Given the description of an element on the screen output the (x, y) to click on. 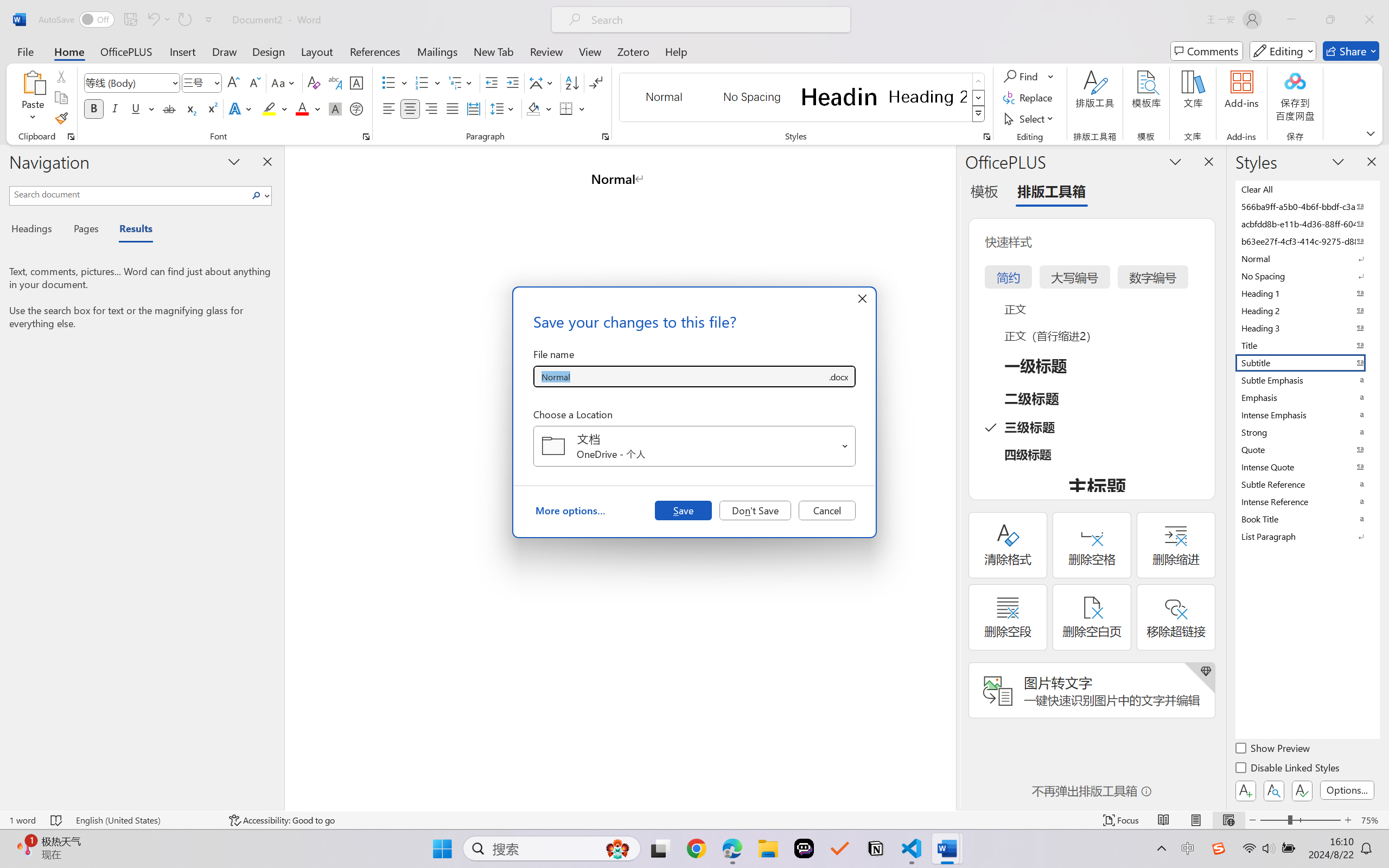
Font Color Red (302, 108)
Save (682, 509)
Numbering (421, 82)
Comments (1206, 50)
Book Title (1306, 518)
566ba9ff-a5b0-4b6f-bbdf-c3ab41993fc2 (1306, 206)
Disable Linked Styles (1287, 769)
Review (546, 51)
Show/Hide Editing Marks (595, 82)
Subtitle (1306, 362)
